Given the description of an element on the screen output the (x, y) to click on. 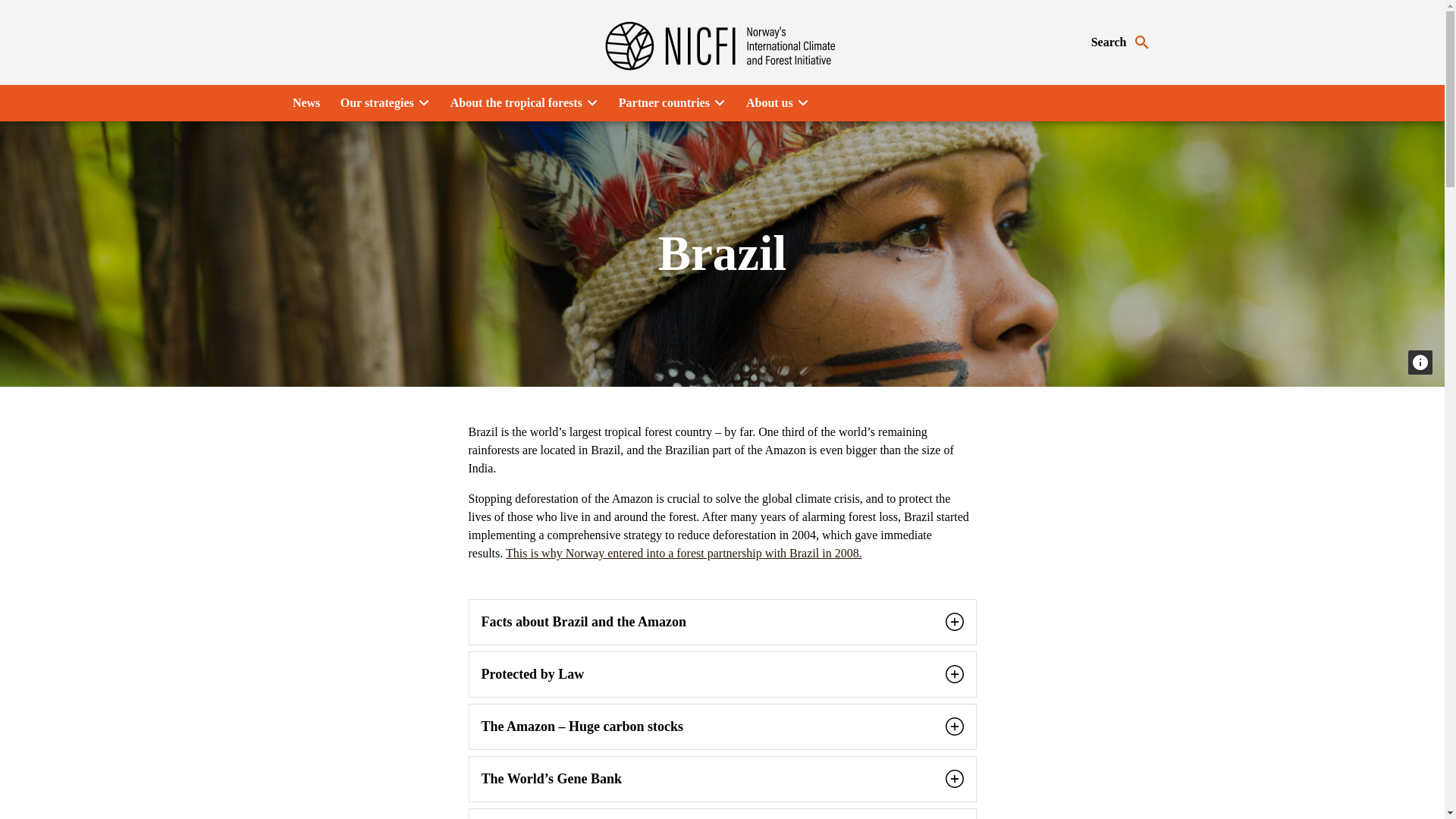
About us (776, 103)
Partner countries (671, 103)
About the tropical forests (524, 103)
Our strategies (384, 103)
Search (1120, 42)
News (307, 103)
